Given the description of an element on the screen output the (x, y) to click on. 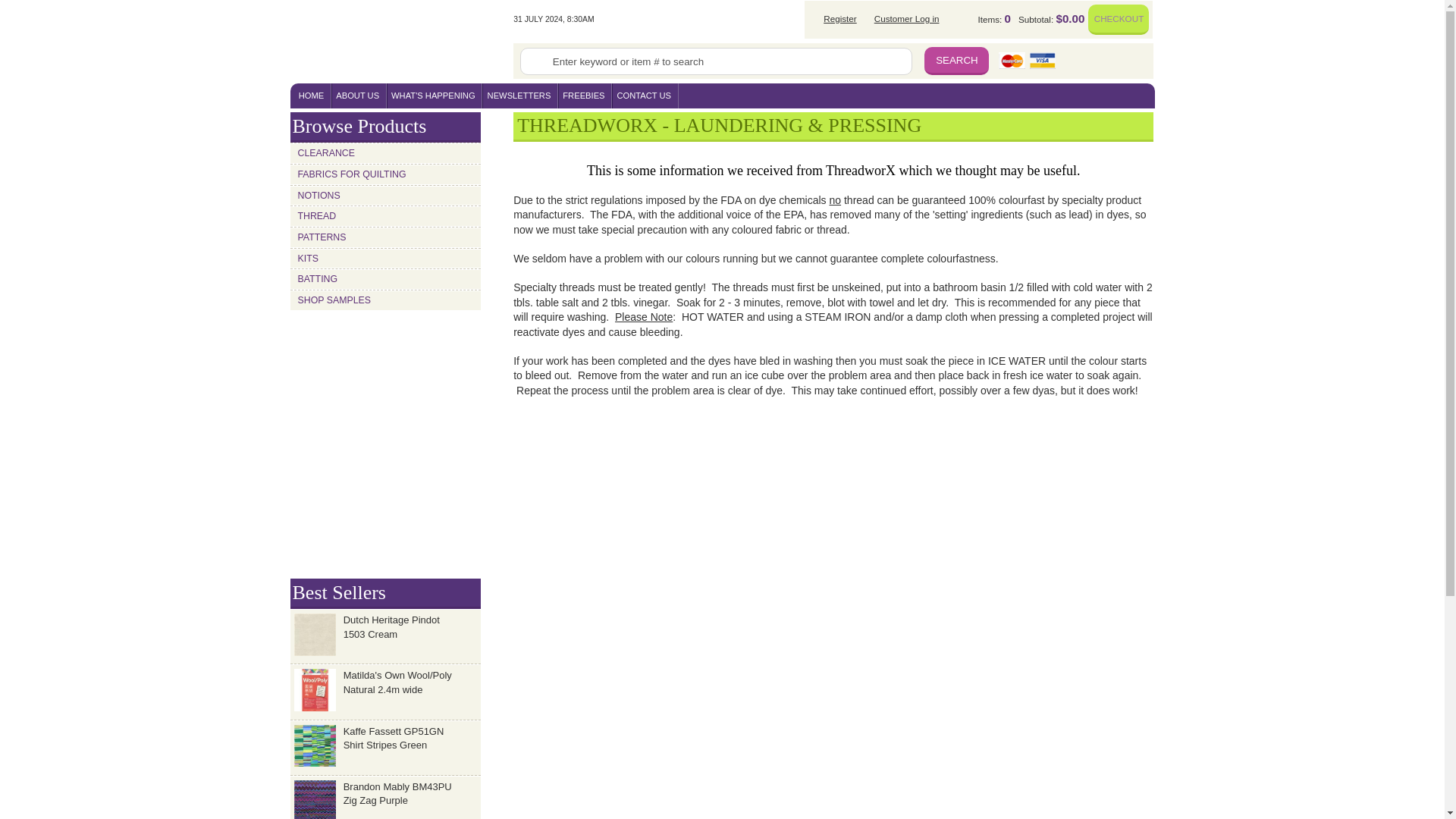
KITS (384, 258)
CHECKOUT (1117, 19)
CONTACT US (645, 95)
THREAD (384, 216)
Customer Log in (903, 18)
Register (836, 18)
HOME (312, 95)
Search (956, 60)
NOTIONS (384, 195)
FREEBIES (585, 95)
BATTING (384, 279)
WHAT'S HAPPENING (434, 95)
PATTERNS (384, 237)
The Quilters' Store (401, 41)
ABOUT US (358, 95)
